Given the description of an element on the screen output the (x, y) to click on. 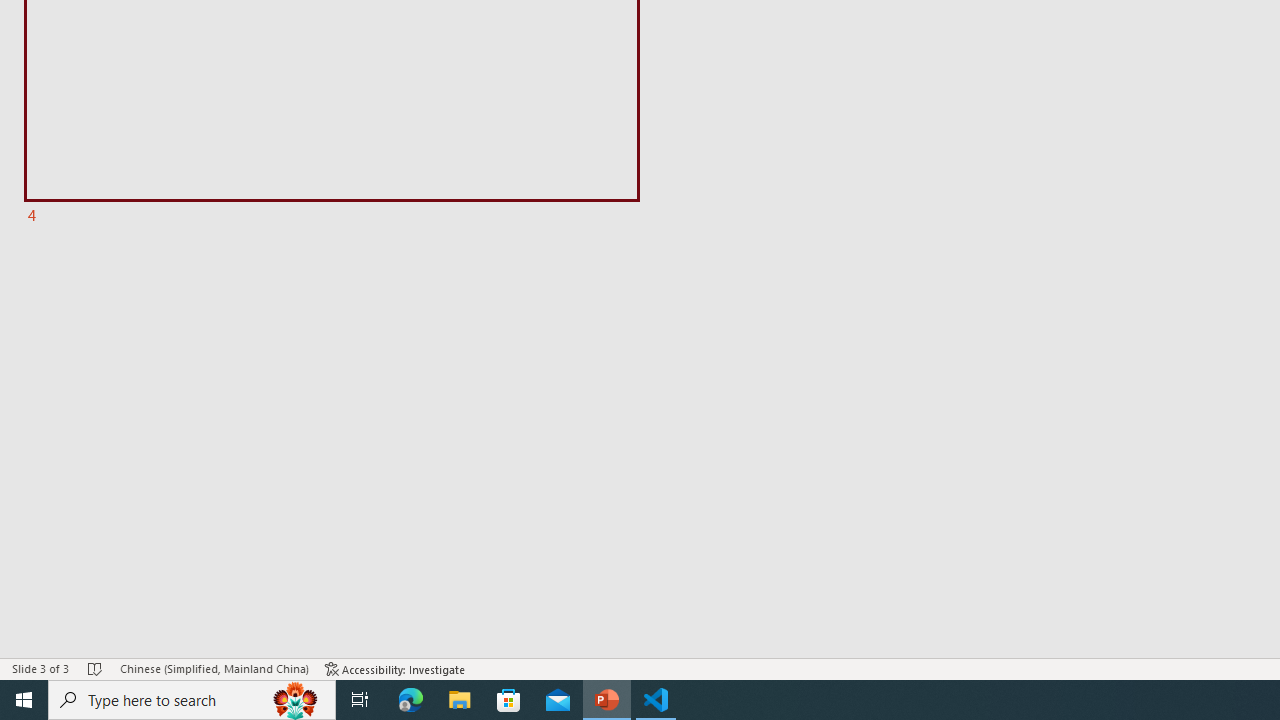
Accessibility Checker Accessibility: Investigate (395, 668)
Spell Check No Errors (95, 668)
